Given the description of an element on the screen output the (x, y) to click on. 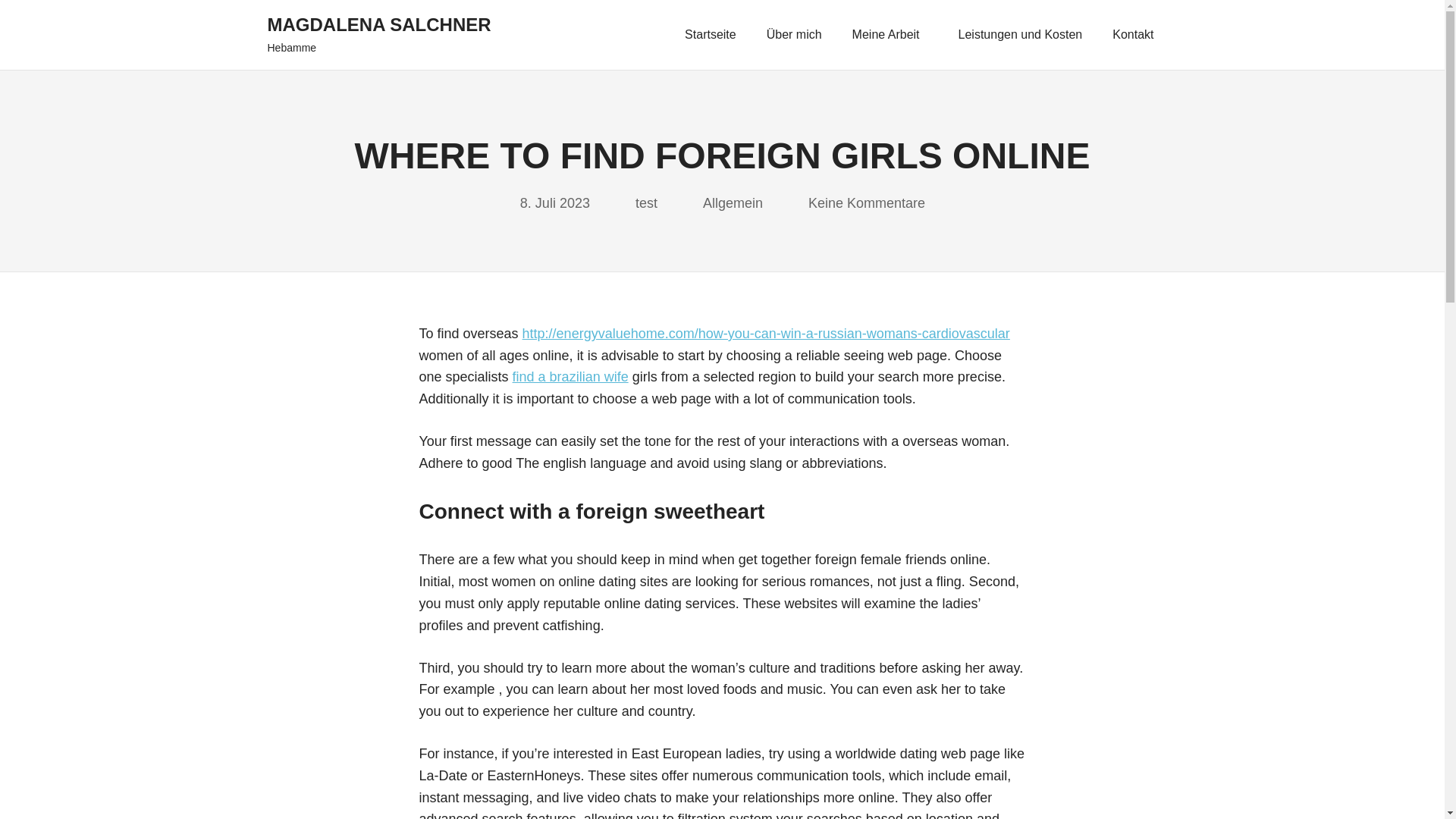
find a brazilian wife (570, 376)
Startseite (710, 34)
Meine Arbeit (890, 34)
Leistungen und Kosten (1020, 34)
test (646, 202)
MAGDALENA SALCHNER (378, 24)
8. Juli 2023 (554, 202)
Keine Kommentare (866, 202)
2:00 (554, 202)
Allgemein (732, 202)
Kontakt (1136, 34)
